Given the description of an element on the screen output the (x, y) to click on. 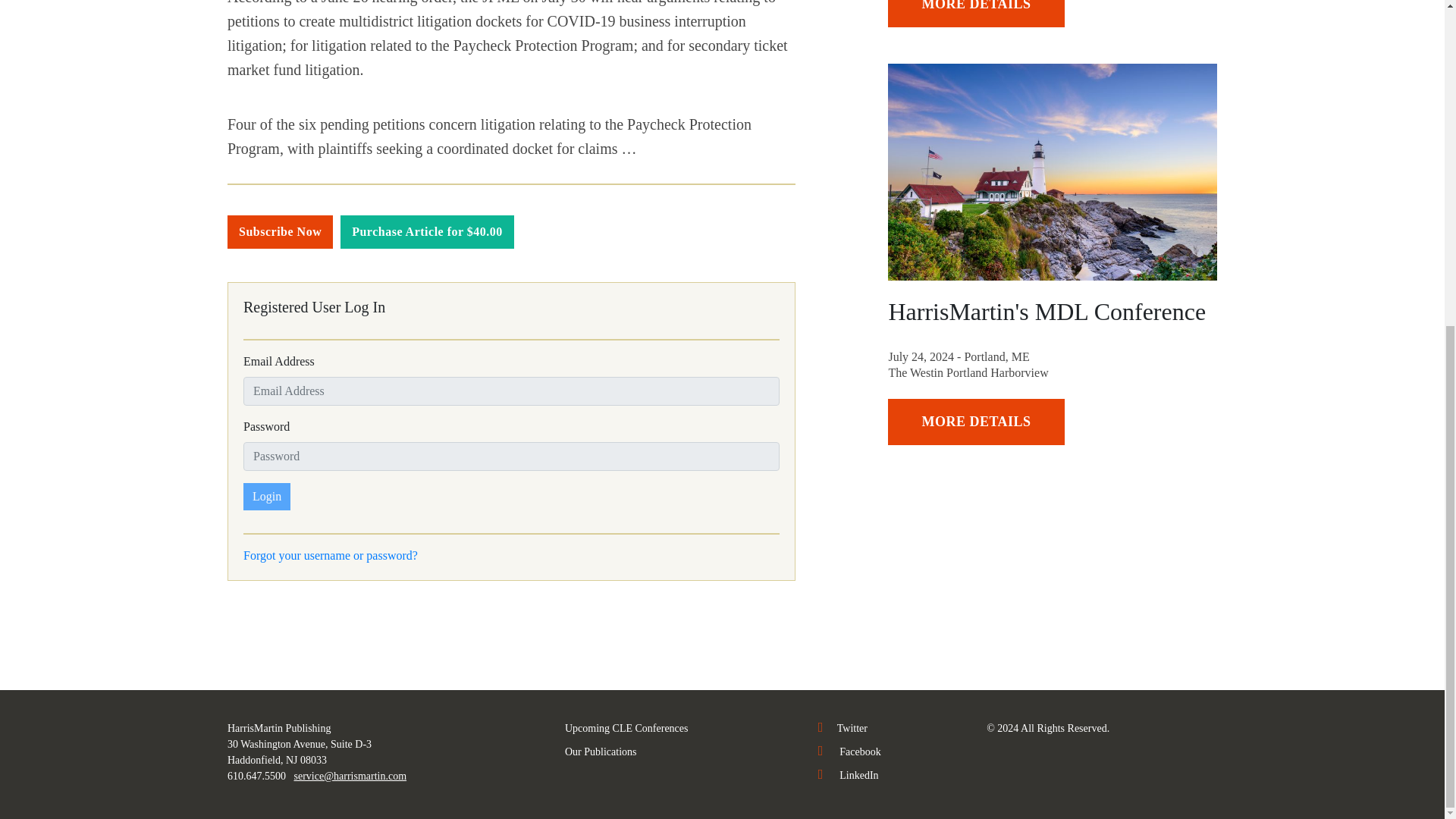
MORE DETAILS (976, 13)
Login (266, 496)
MORE DETAILS (976, 421)
Upcoming CLE Conferences (626, 727)
Twitter (842, 727)
Facebook (849, 751)
Subscribe Now (280, 231)
LinkedIn (848, 775)
Forgot your username or password? (330, 554)
Our Publications (600, 751)
